Given the description of an element on the screen output the (x, y) to click on. 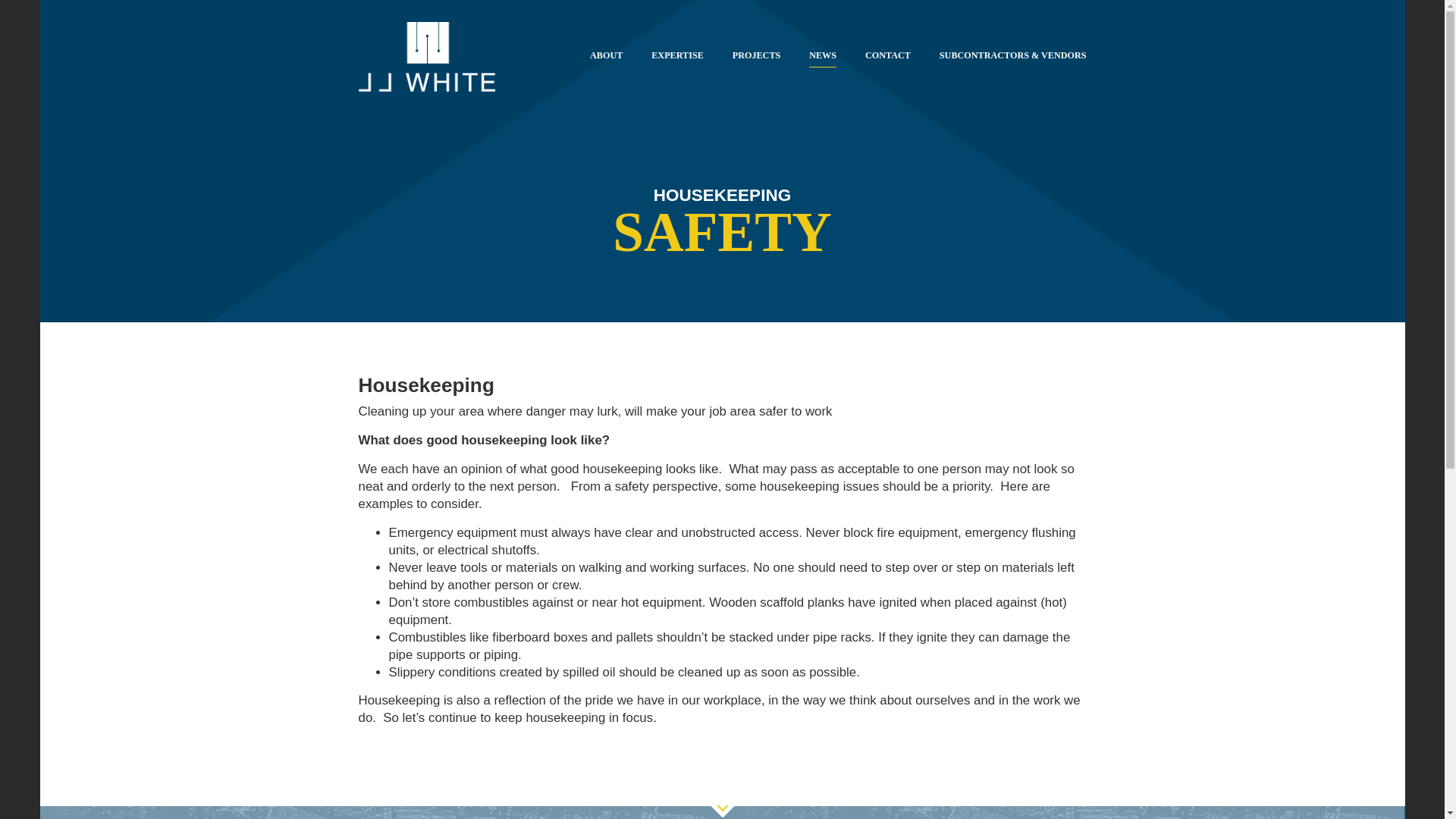
EXPERTISE (676, 57)
ABOUT (606, 57)
PROJECTS (756, 57)
